Given the description of an element on the screen output the (x, y) to click on. 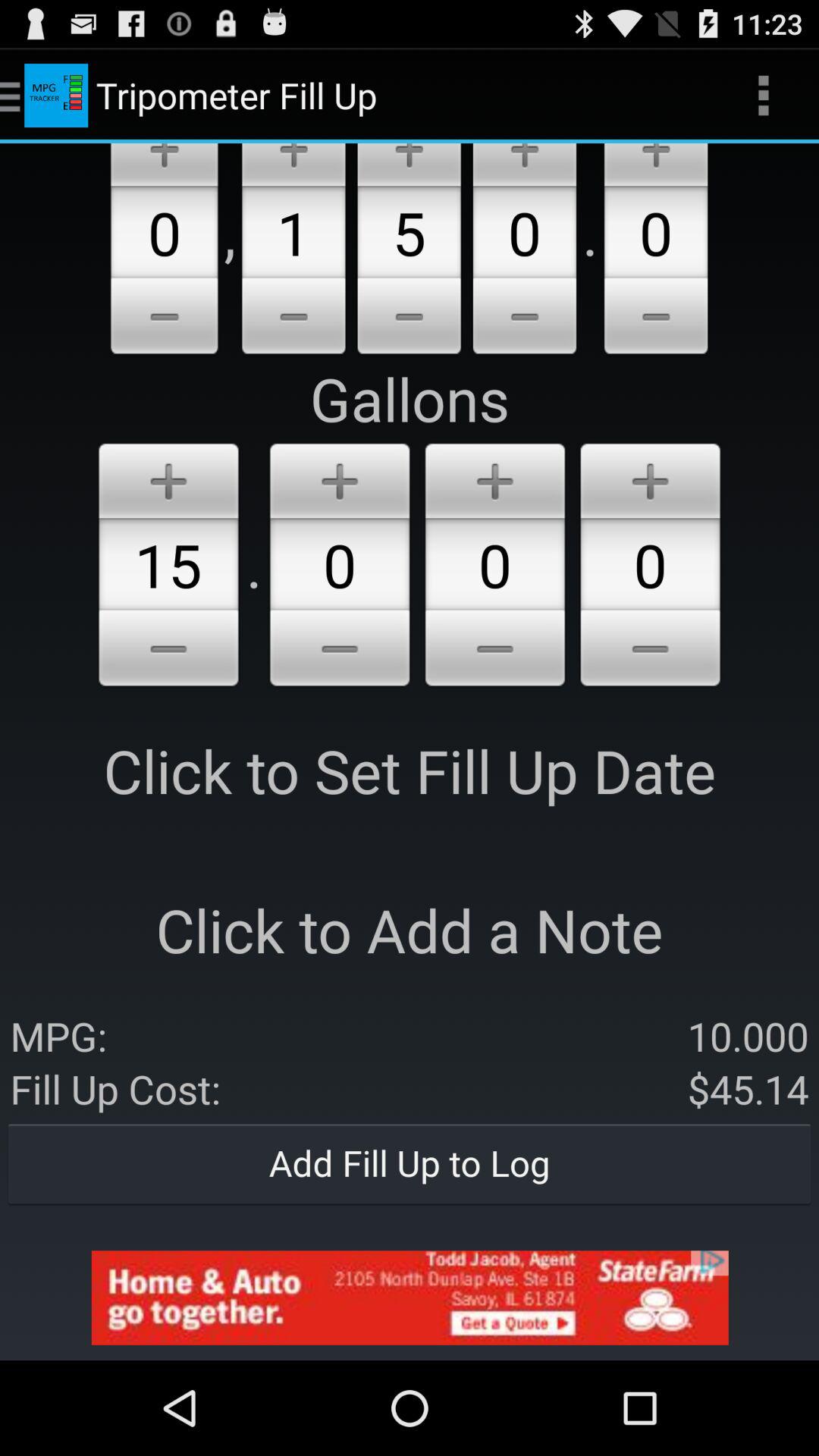
increase button (164, 164)
